Given the description of an element on the screen output the (x, y) to click on. 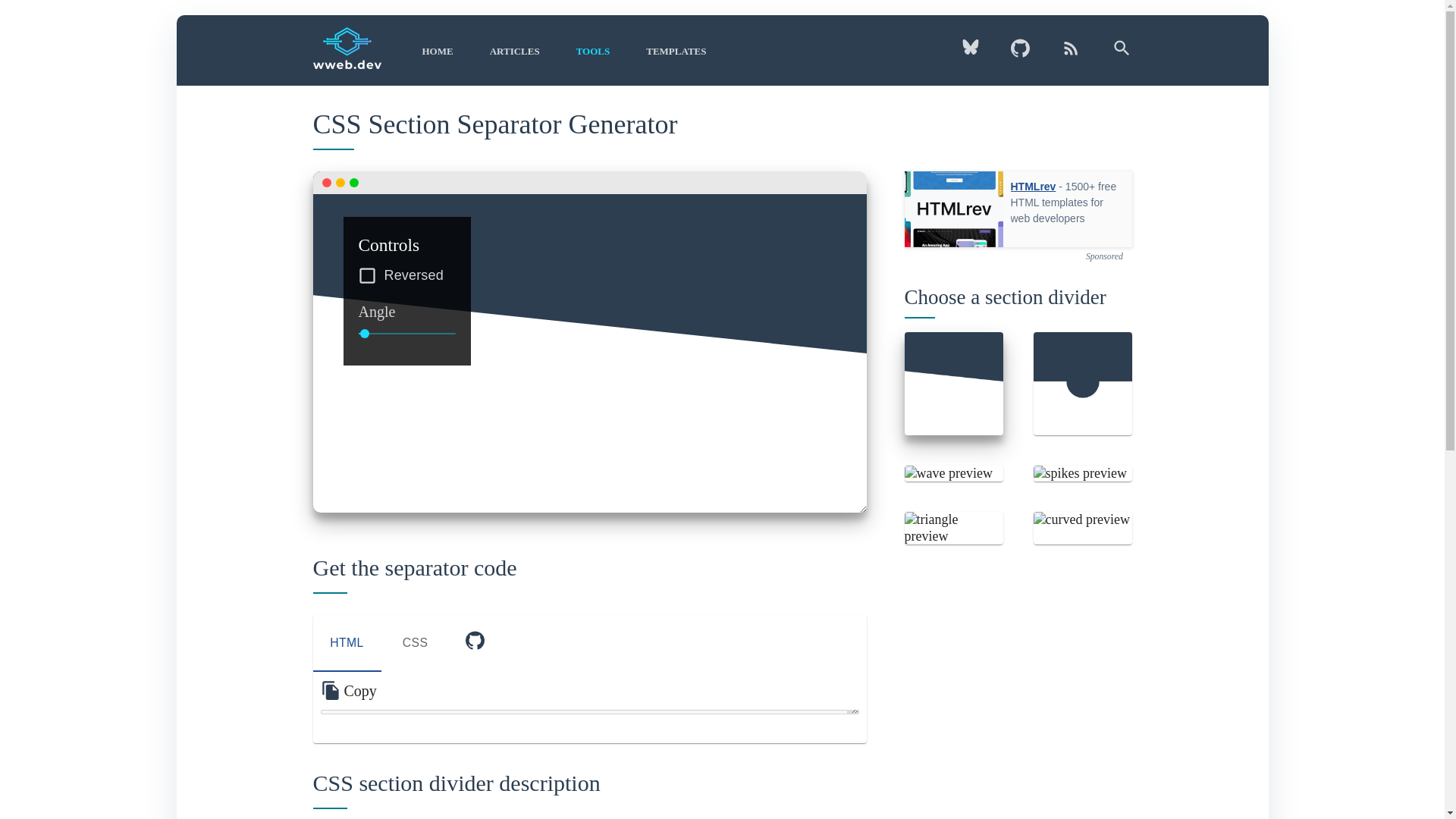
CSS (414, 643)
Github (1019, 53)
RSS Feed (1070, 53)
Bluesky (977, 51)
HTML (346, 643)
TOOLS (592, 51)
ARTICLES (514, 51)
2 (589, 643)
TEMPLATES (473, 643)
Search (666, 51)
HOME (1114, 53)
6 (436, 51)
